Given the description of an element on the screen output the (x, y) to click on. 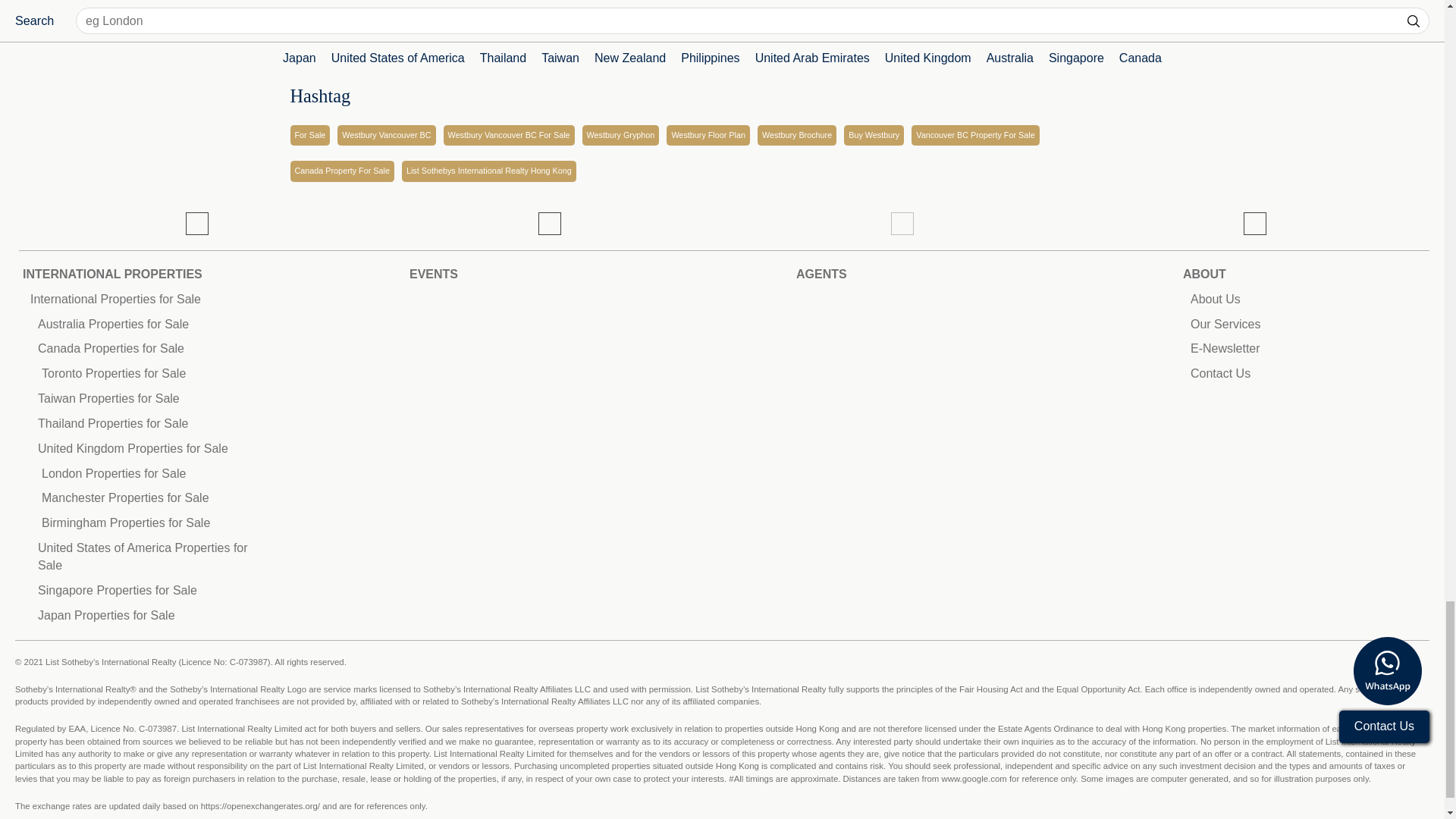
ENQUIRY (342, 13)
